Given the description of an element on the screen output the (x, y) to click on. 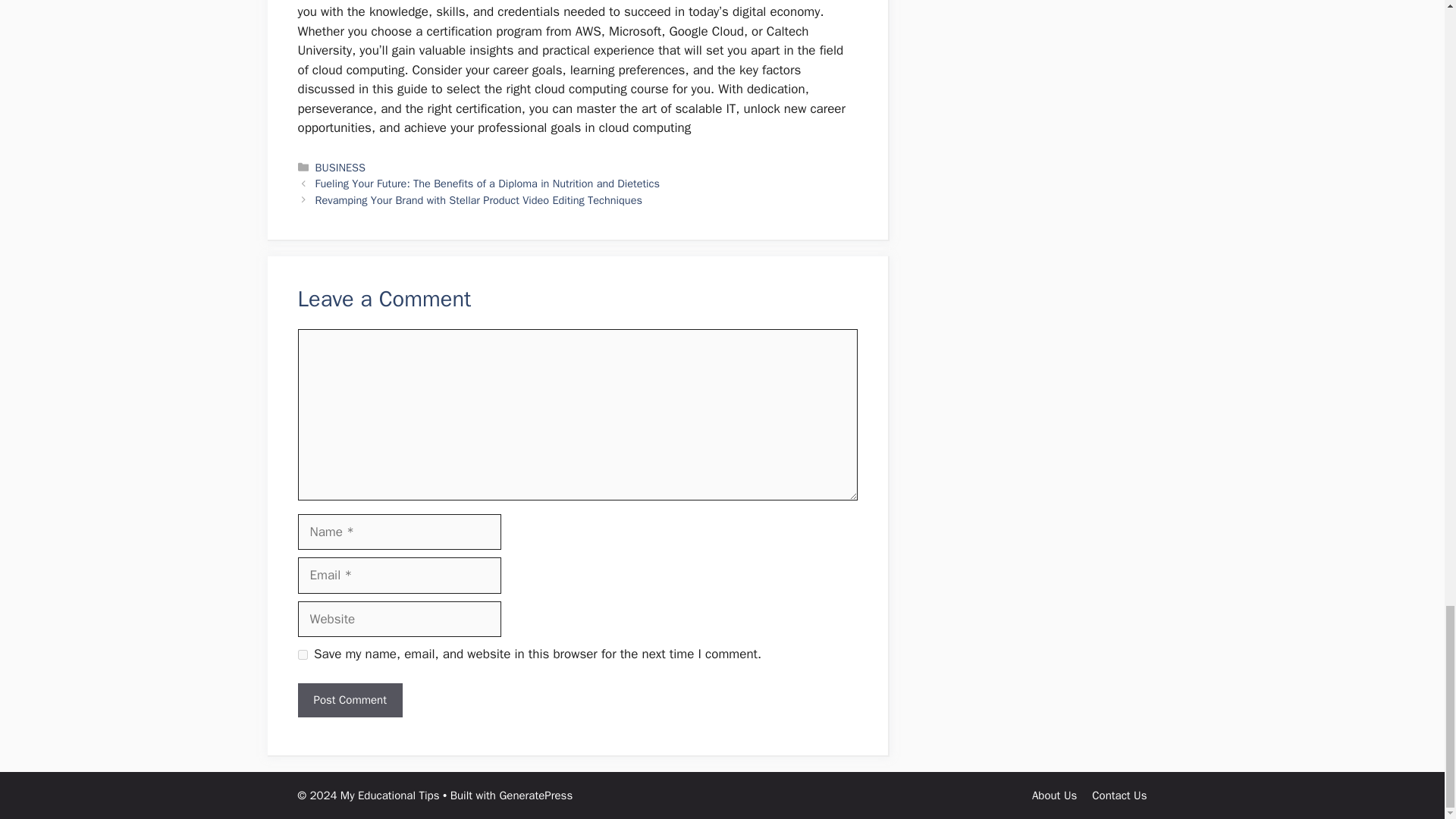
Post Comment (349, 700)
yes (302, 655)
